Given the description of an element on the screen output the (x, y) to click on. 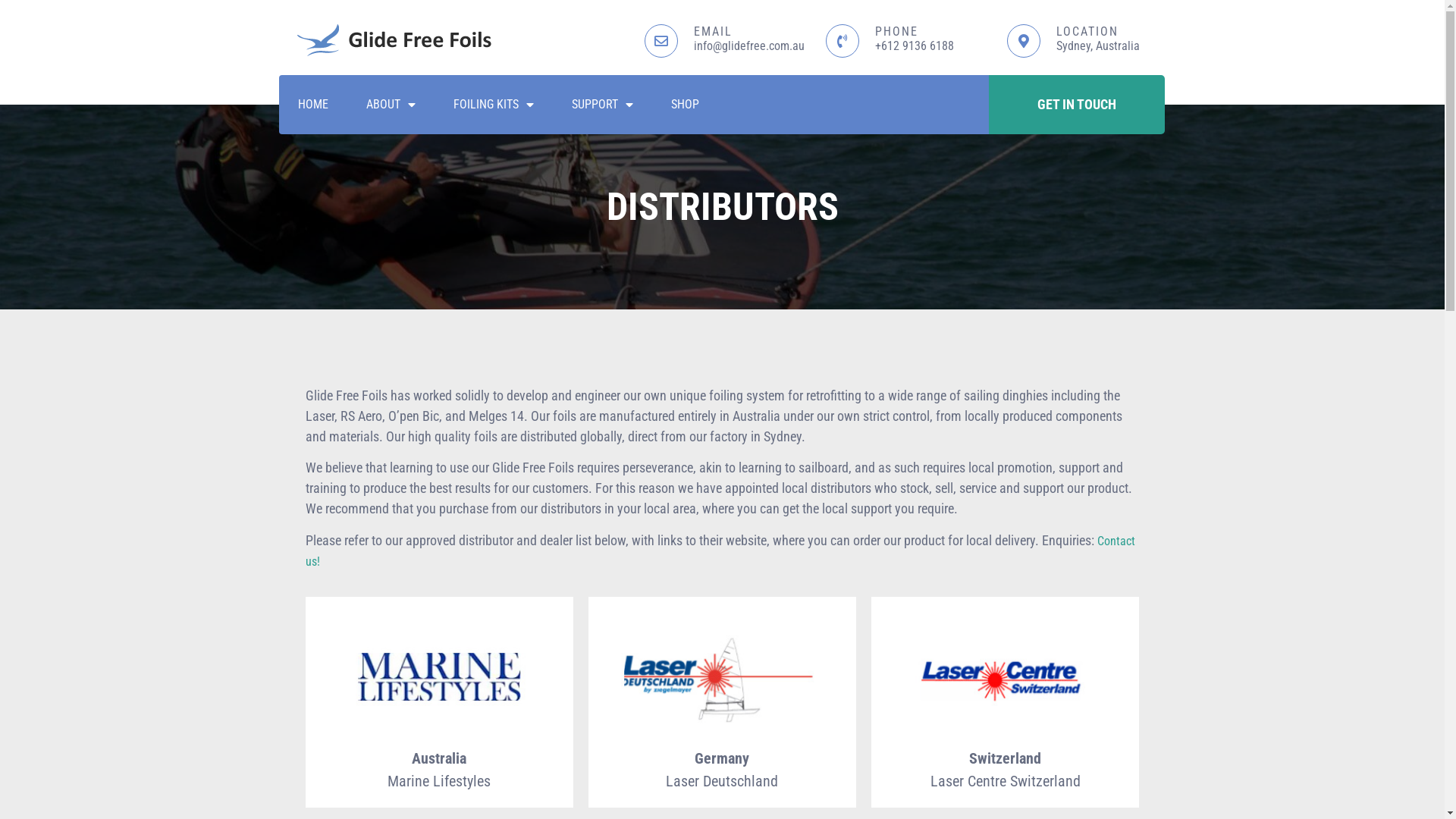
ABOUT Element type: text (390, 104)
Contact us! Element type: text (719, 550)
GET IN TOUCH Element type: text (1076, 104)
PHONE Element type: text (896, 31)
HOME Element type: text (312, 104)
SHOP Element type: text (684, 104)
SUPPORT Element type: text (601, 104)
EMAIL Element type: text (712, 31)
FOILING KITS Element type: text (492, 104)
